Given the description of an element on the screen output the (x, y) to click on. 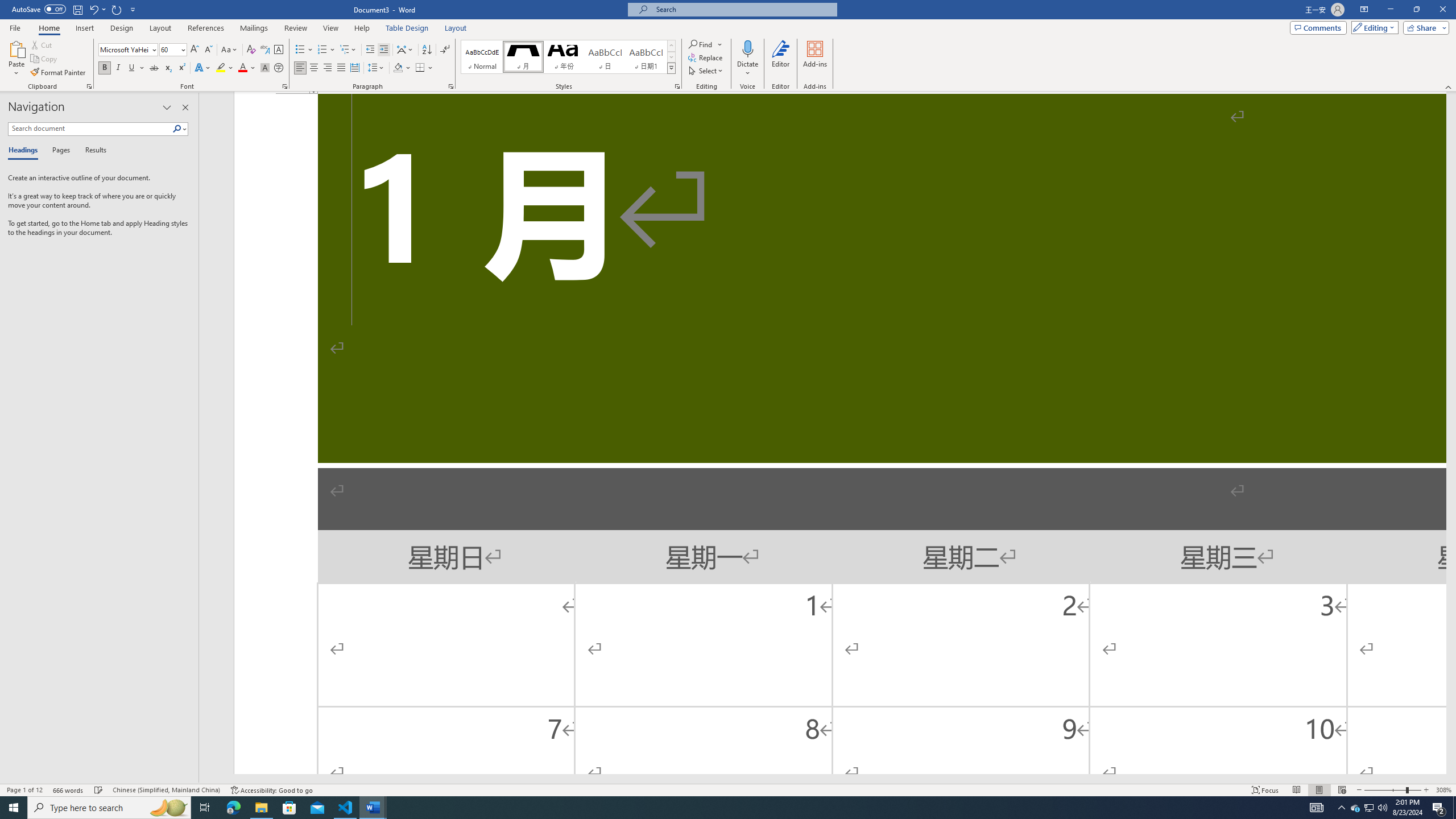
Repeat Increase Indent (117, 9)
